Given the description of an element on the screen output the (x, y) to click on. 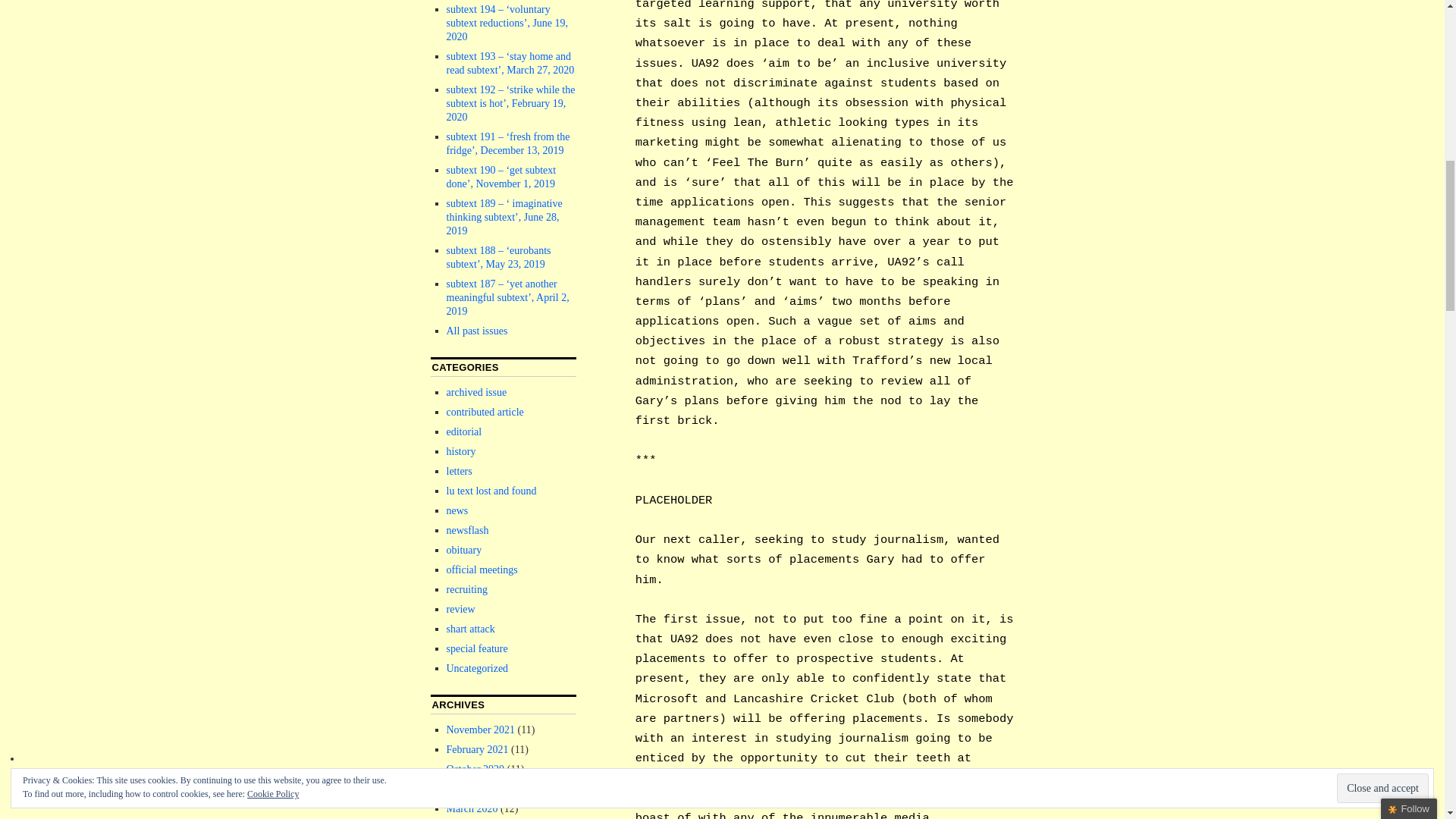
Enter email address (1348, 107)
Sign me up! (1349, 136)
